Given the description of an element on the screen output the (x, y) to click on. 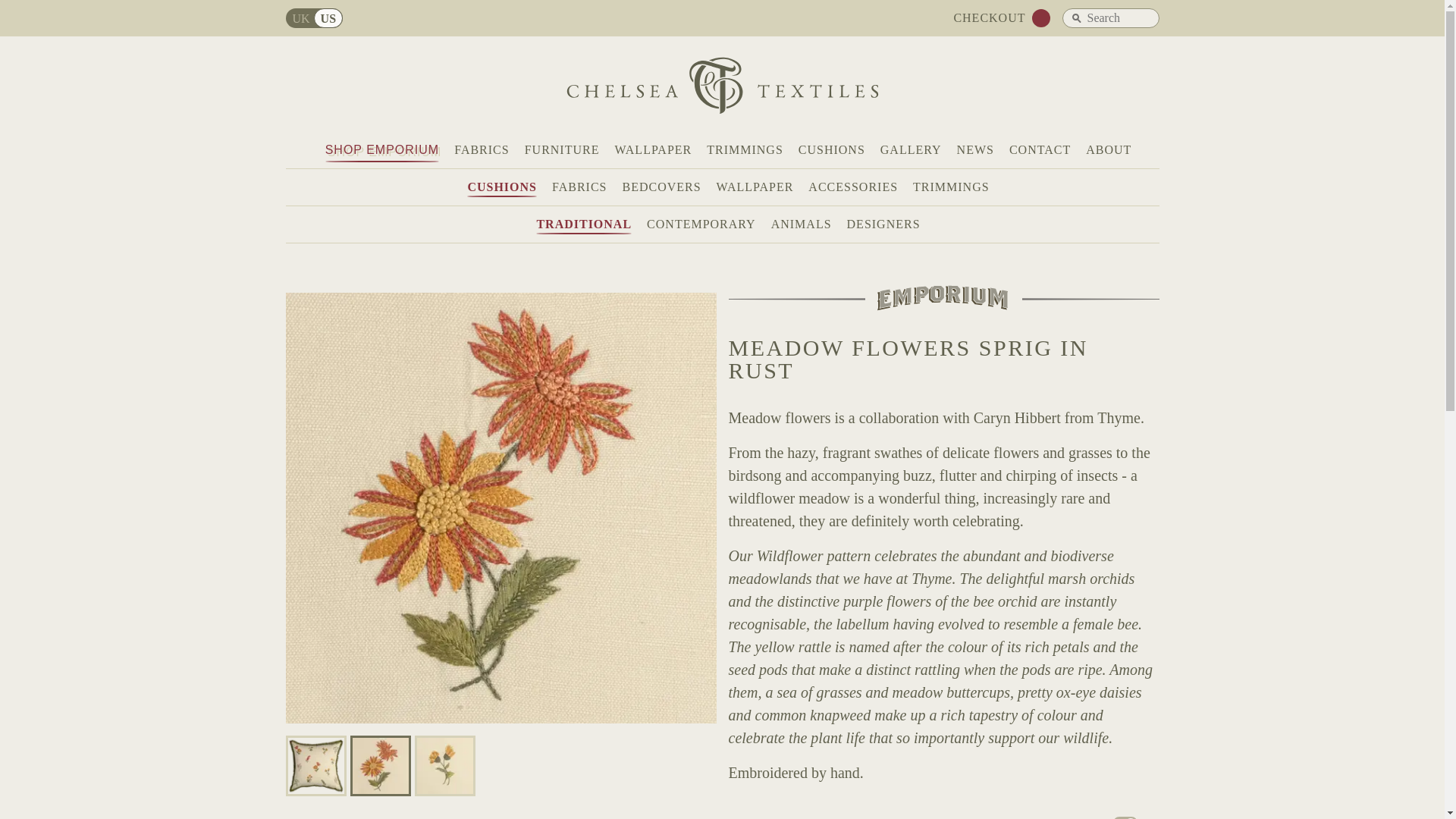
CONTEMPORARY (700, 224)
CHECKOUT (989, 18)
SHOP EMPORIUM (381, 149)
WALLPAPER (754, 186)
UK (299, 17)
WALLPAPER (652, 149)
BEDCOVERS (660, 186)
C854 SP R Detail 1 (380, 765)
NEWS (975, 149)
TRIMMINGS (951, 186)
GALLERY (911, 149)
ABOUT (1108, 149)
C854 SP R Detail 2 (443, 765)
TRIMMINGS (744, 149)
TRADITIONAL (583, 224)
